Given the description of an element on the screen output the (x, y) to click on. 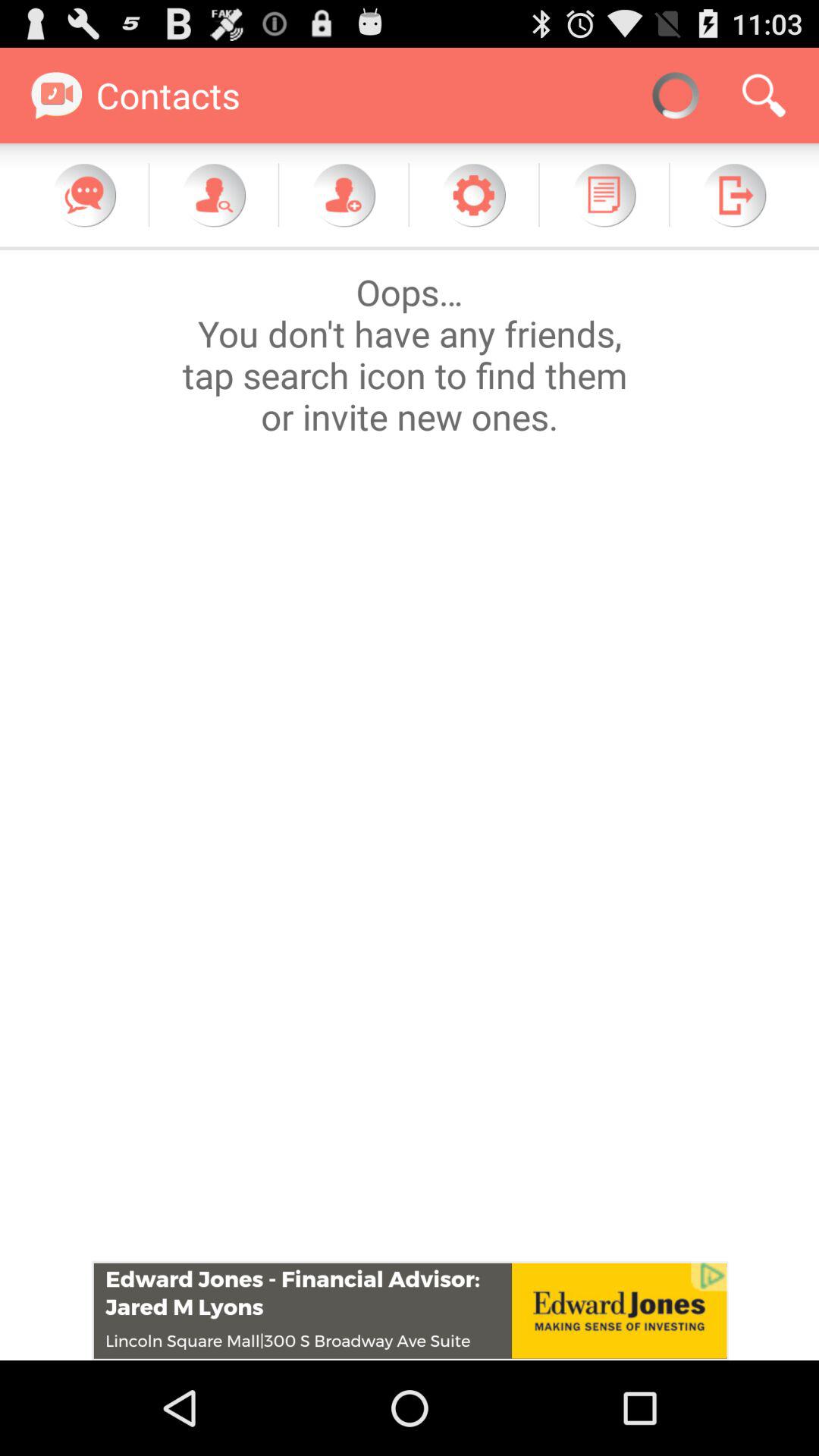
view message log (603, 194)
